Given the description of an element on the screen output the (x, y) to click on. 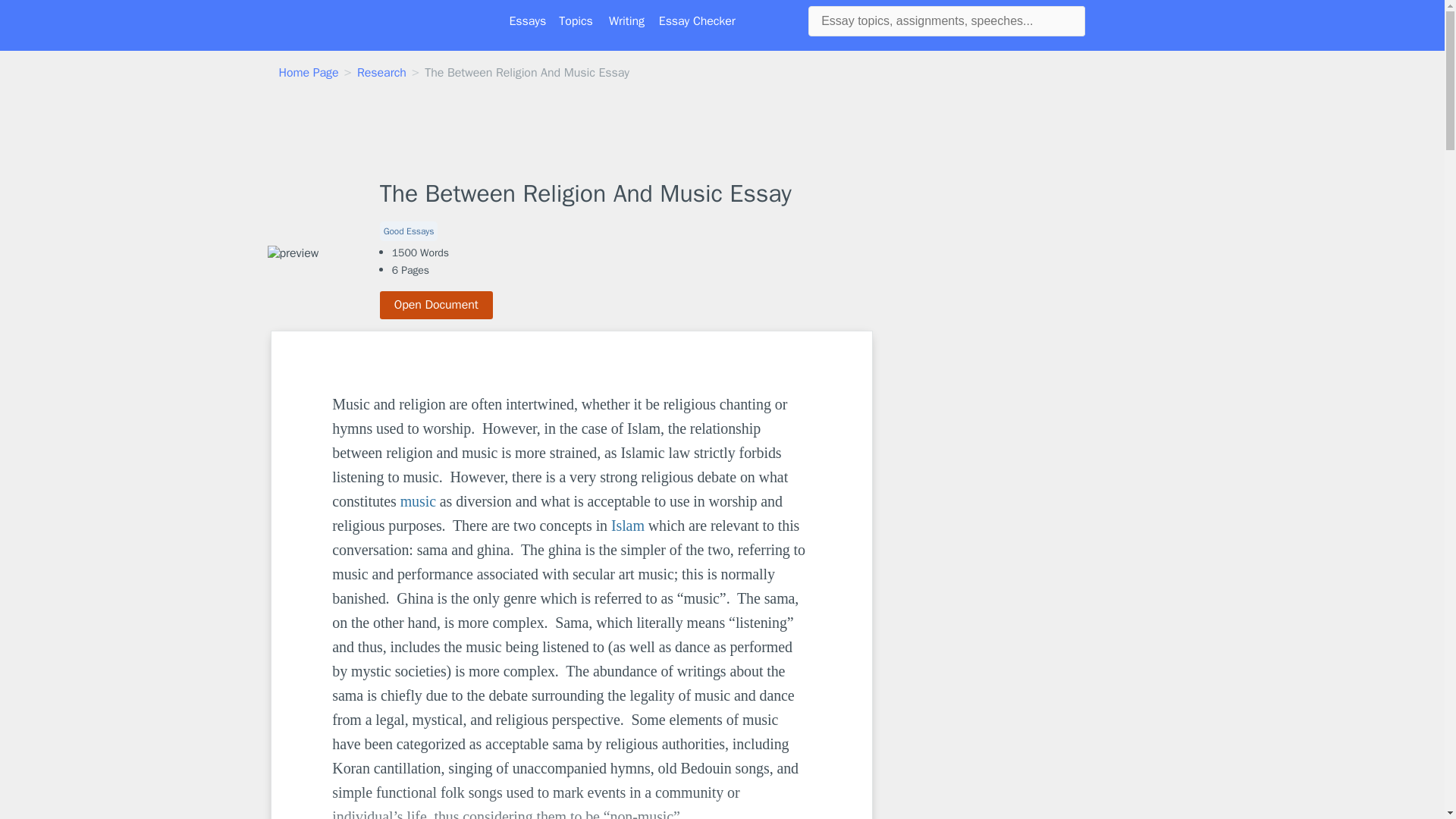
Open Document (436, 305)
Research (381, 72)
Essays (528, 20)
music (417, 501)
Essay Checker (697, 20)
Writing (626, 20)
Home Page (309, 72)
Islam (628, 524)
Topics (575, 20)
